Given the description of an element on the screen output the (x, y) to click on. 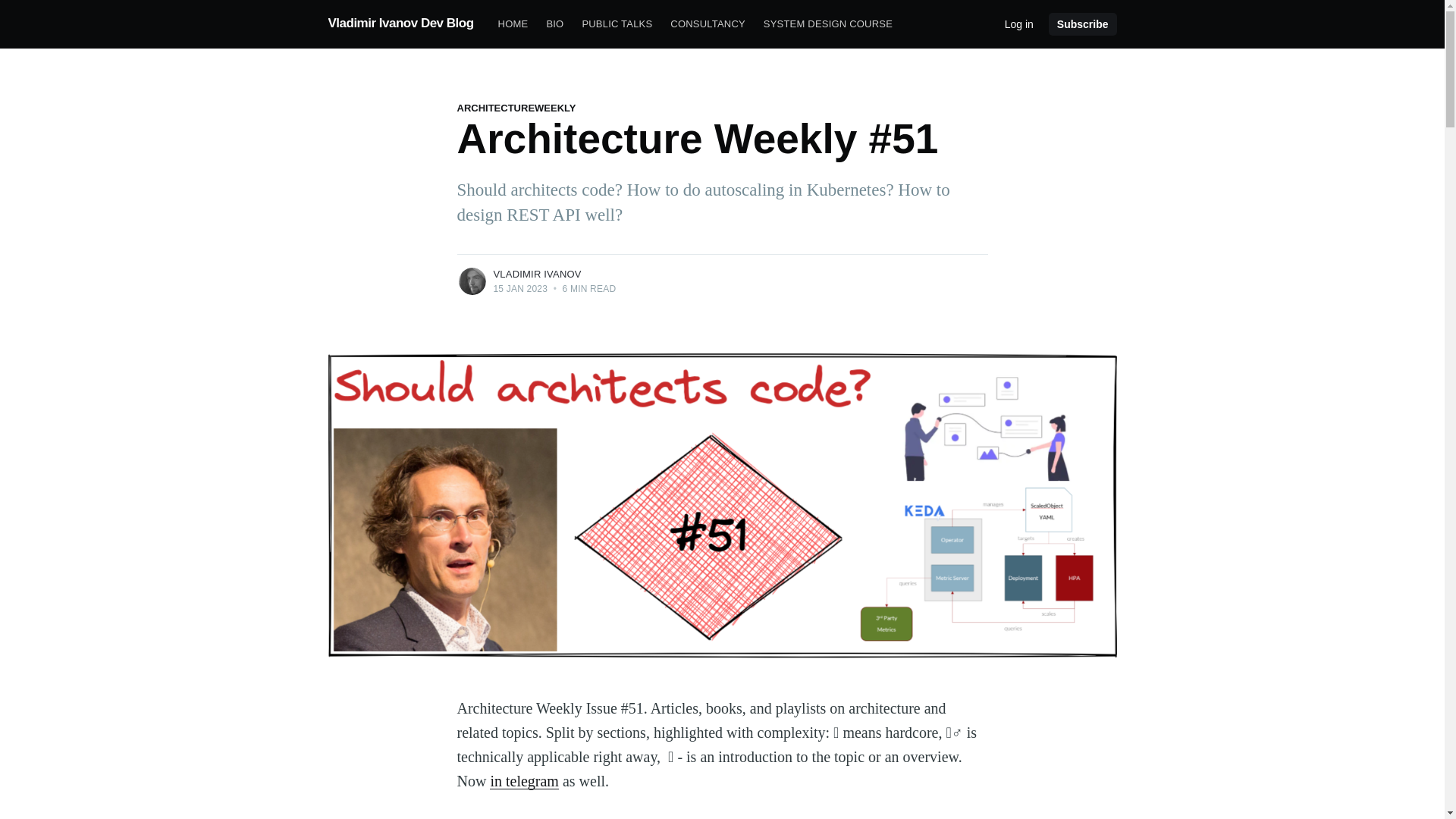
ARCHITECTUREWEEKLY (516, 108)
BIO (554, 24)
CONSULTANCY (707, 24)
VLADIMIR IVANOV (536, 274)
Subscribe (1082, 23)
SYSTEM DESIGN COURSE (827, 24)
Log in (1018, 23)
PUBLIC TALKS (616, 24)
HOME (513, 24)
in telegram (524, 781)
